Given the description of an element on the screen output the (x, y) to click on. 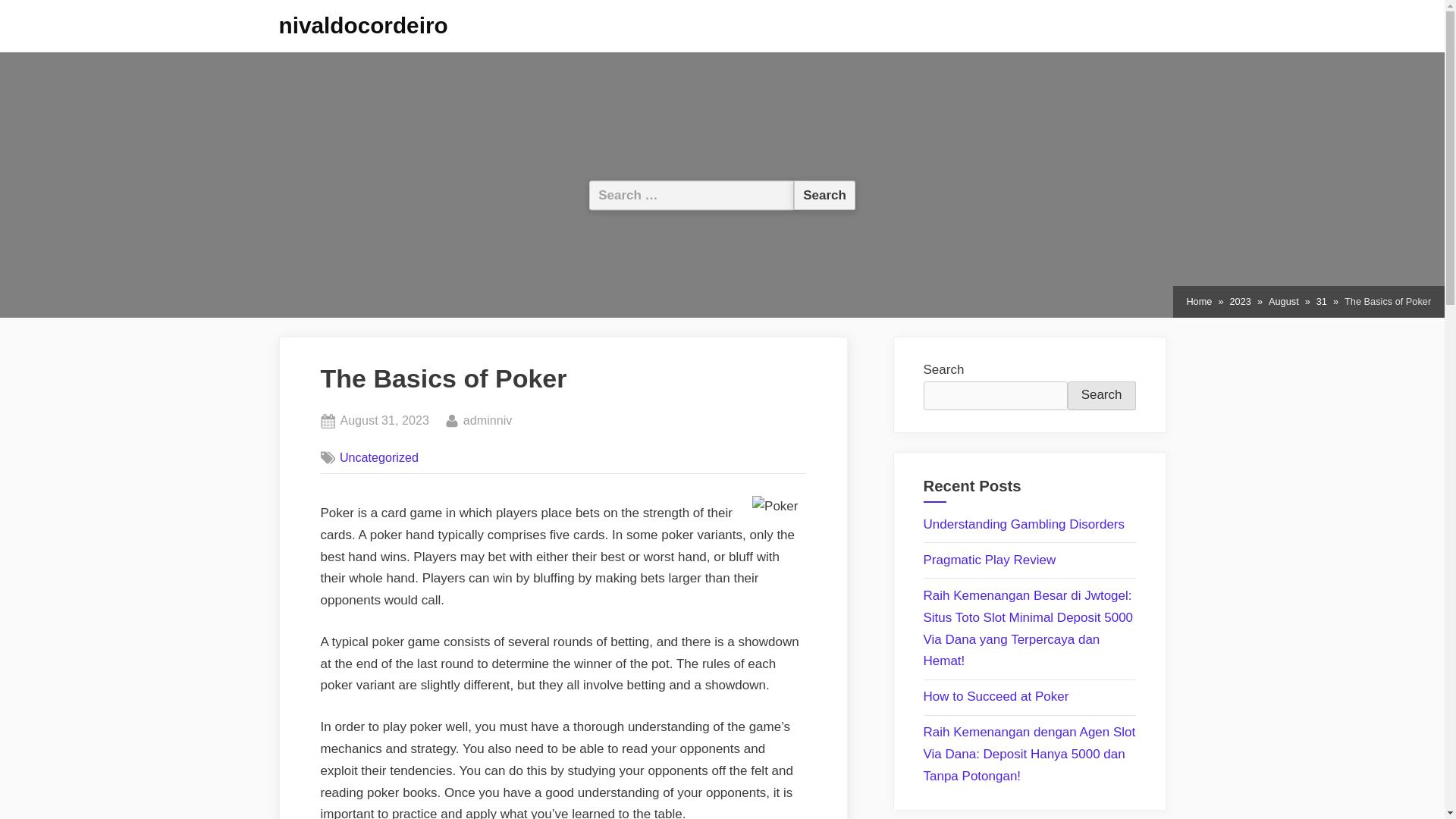
nivaldocordeiro (363, 25)
August (1283, 301)
Pragmatic Play Review (990, 559)
Search (1101, 395)
Uncategorized (379, 457)
Search (824, 194)
How to Succeed at Poker (384, 420)
Home (995, 696)
